Given the description of an element on the screen output the (x, y) to click on. 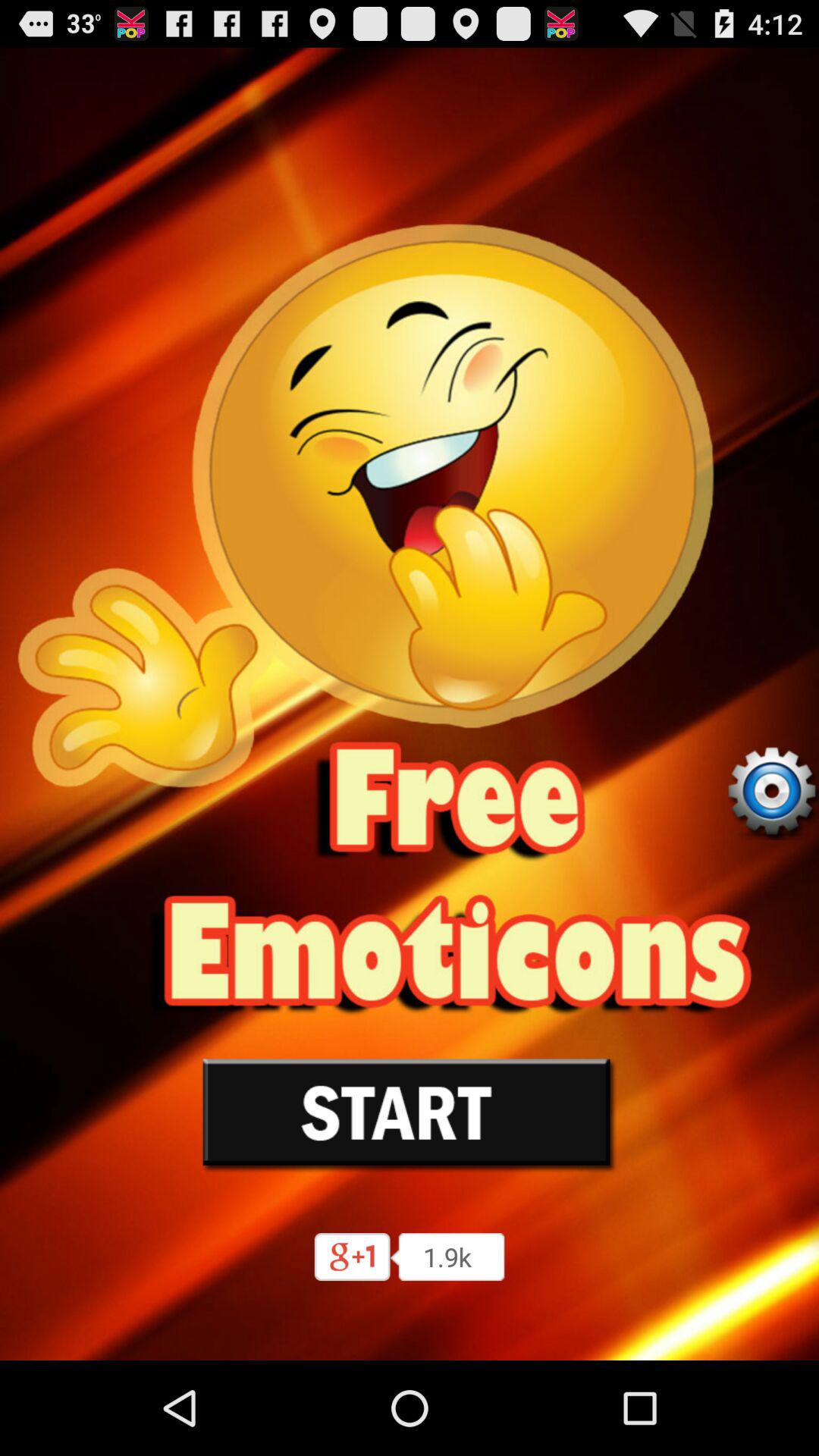
go to setting (771, 792)
